Given the description of an element on the screen output the (x, y) to click on. 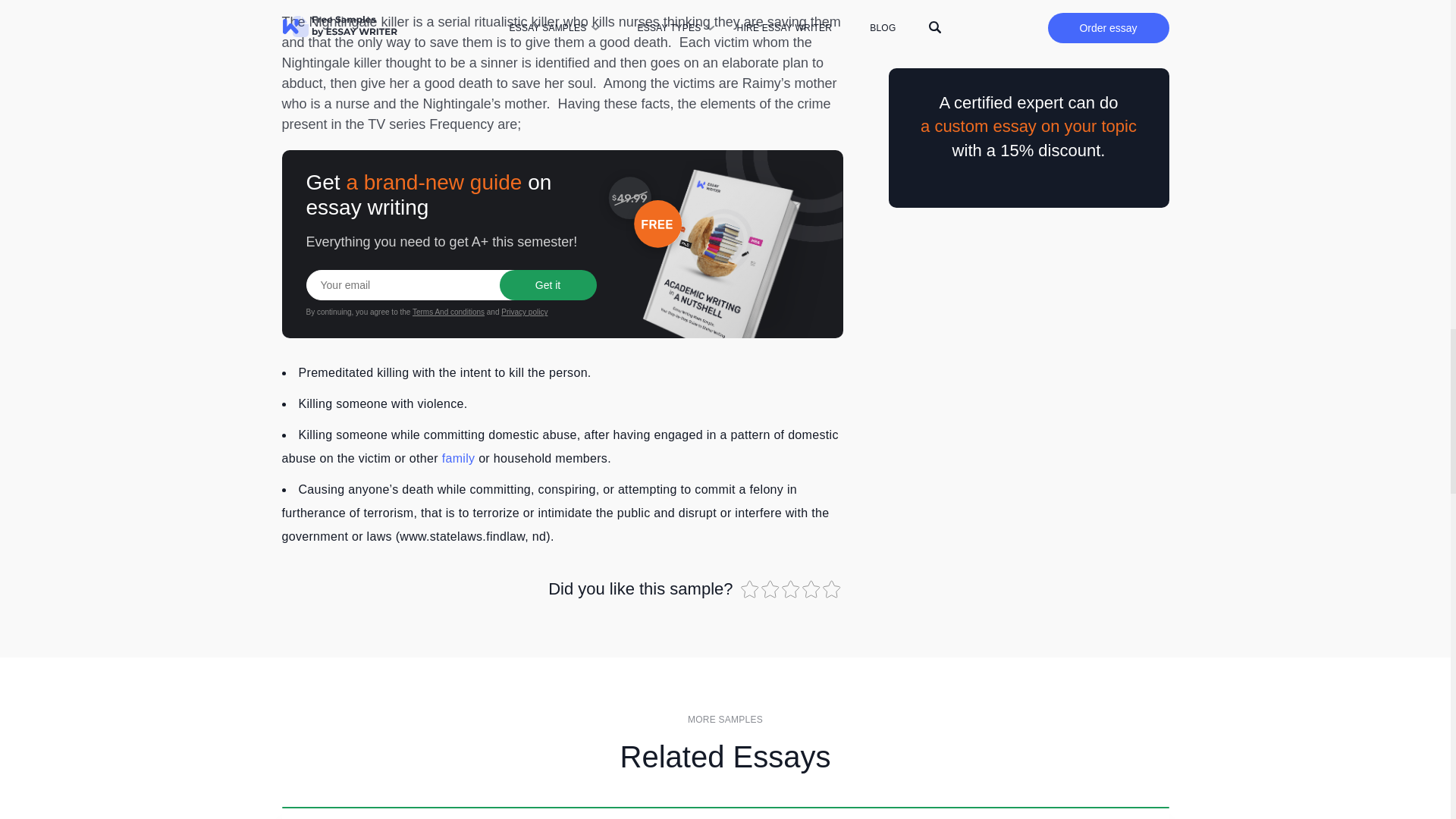
21 votes, average: 4.8 out of 5 (812, 588)
21 votes, average: 4.8 out of 5 (791, 588)
21 votes, average: 4.8 out of 5 (749, 588)
21 votes, average: 4.8 out of 5 (771, 588)
21 votes, average: 4.8 out of 5 (832, 588)
